Given the description of an element on the screen output the (x, y) to click on. 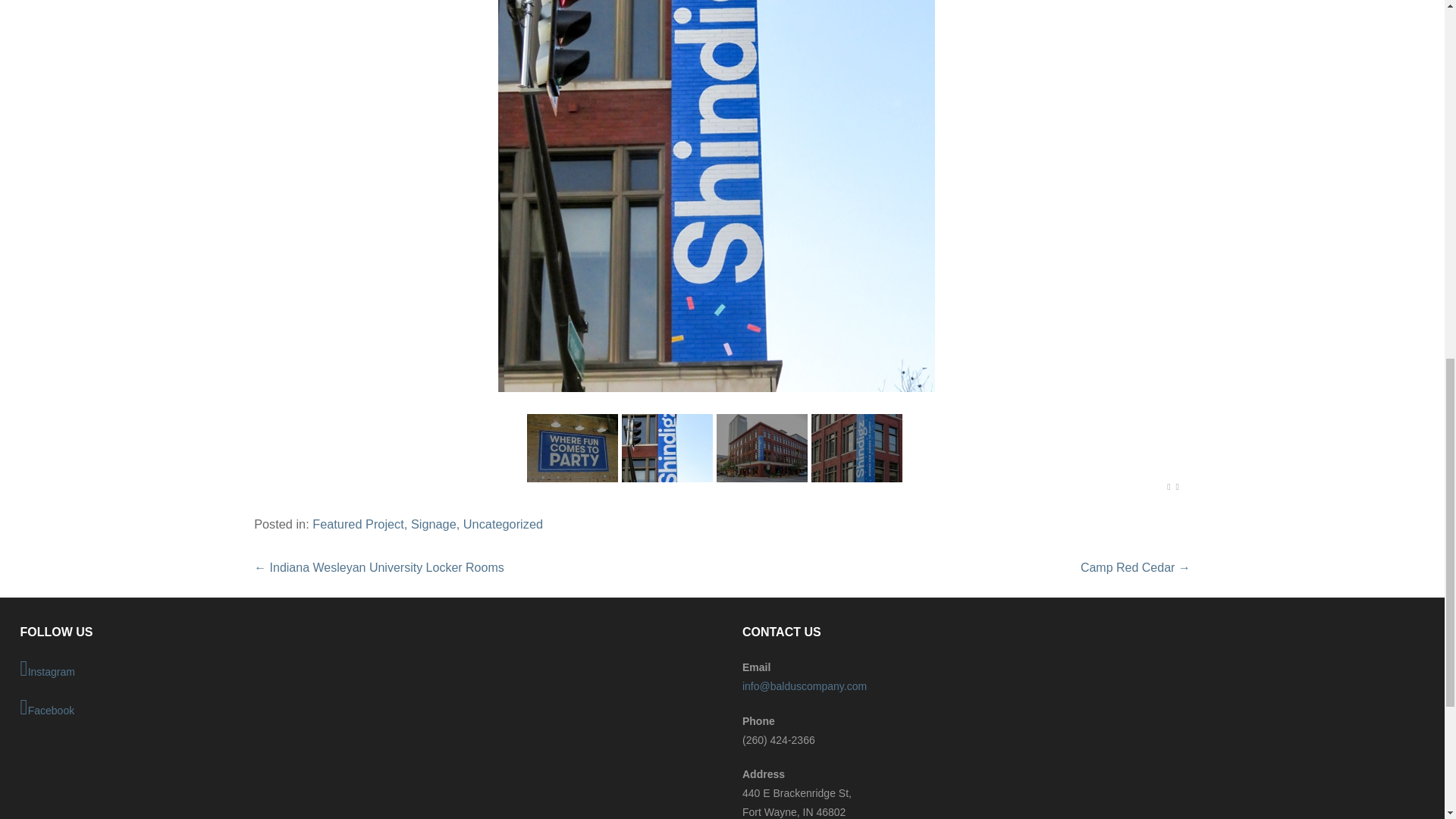
Signage (433, 523)
Uncategorized (503, 523)
Facebook (360, 708)
Visit Baldus Company Fort Wayne on Instagram (360, 669)
Featured Project (358, 523)
Instagram (360, 669)
Visit Baldus Company Fort Wayne on Facebook (360, 708)
